Given the description of an element on the screen output the (x, y) to click on. 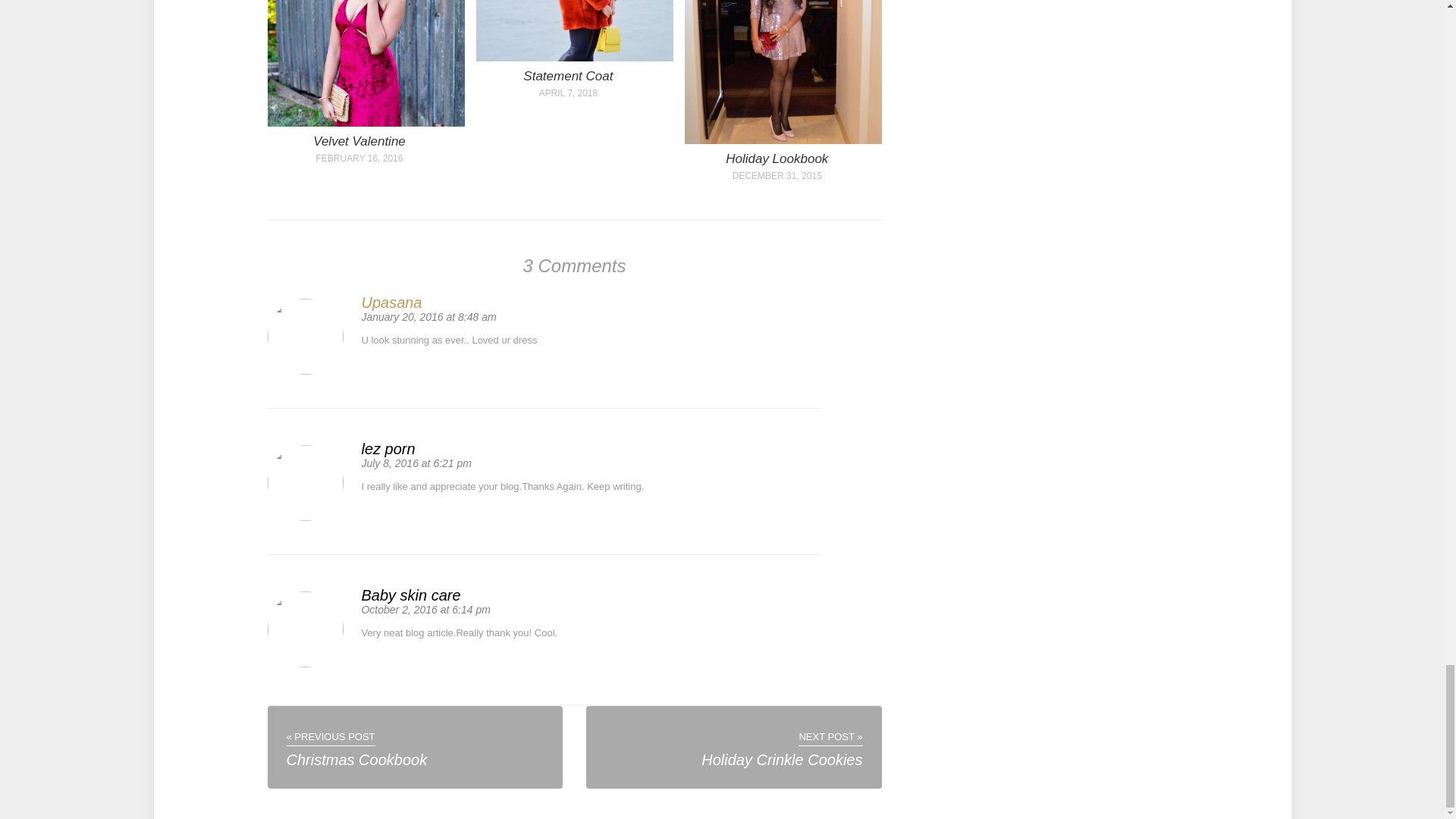
Velvet Valentine (359, 141)
Permanent (365, 122)
FEBRUARY 16, 2016 (358, 158)
Permanent (567, 75)
Statement Coat (567, 75)
Permanent (574, 57)
Permanent (359, 141)
APRIL 7, 2018 (568, 92)
Permanent (776, 158)
Permanent (783, 140)
